Given the description of an element on the screen output the (x, y) to click on. 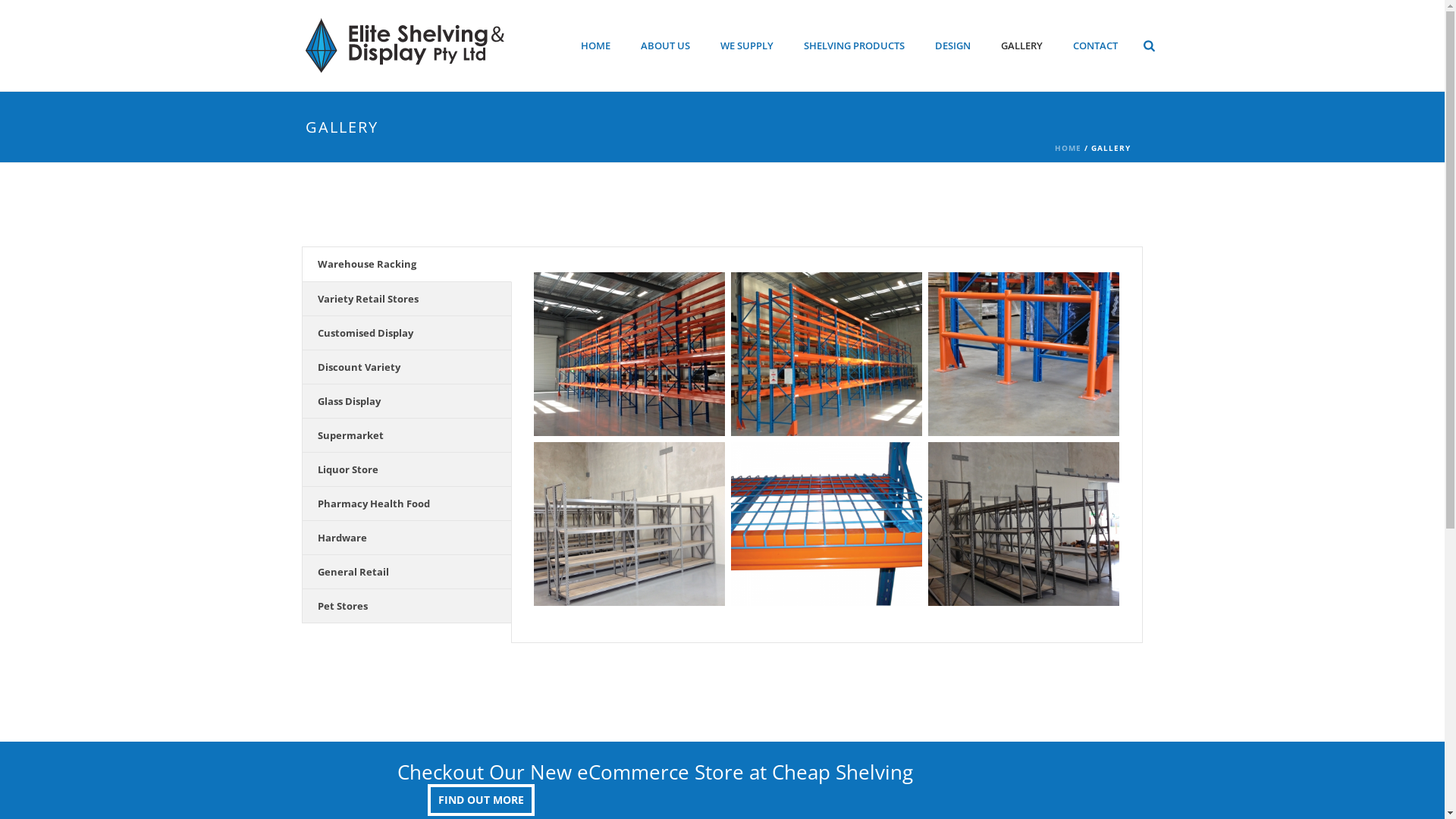
SHELVING PRODUCTS Element type: text (853, 45)
Hardware Element type: text (406, 537)
DESIGN Element type: text (952, 45)
269 Element type: hover (826, 354)
GALLERY Element type: text (1021, 45)
Customised Display Element type: text (406, 333)
WE SUPPLY Element type: text (746, 45)
CONTACT Element type: text (1094, 45)
Glass Display Element type: text (406, 401)
Variety Retail Stores Element type: text (406, 299)
270 Element type: hover (1023, 523)
Discount Variety Element type: text (406, 367)
img_0500 Element type: hover (628, 523)
FIND OUT MORE Element type: text (480, 799)
Perth Display Element type: hover (403, 45)
HOME Element type: text (1067, 147)
Supermarket Element type: text (406, 435)
General Retail Element type: text (406, 572)
266 Element type: hover (628, 354)
Warehouse Racking Element type: text (406, 264)
dsc_1049 Element type: hover (1023, 354)
Pharmacy Health Food Element type: text (406, 503)
ABOUT US Element type: text (665, 45)
HOME Element type: text (595, 45)
Liquor Store Element type: text (406, 469)
wire-shelf Element type: hover (826, 523)
Pet Stores Element type: text (406, 606)
